Given the description of an element on the screen output the (x, y) to click on. 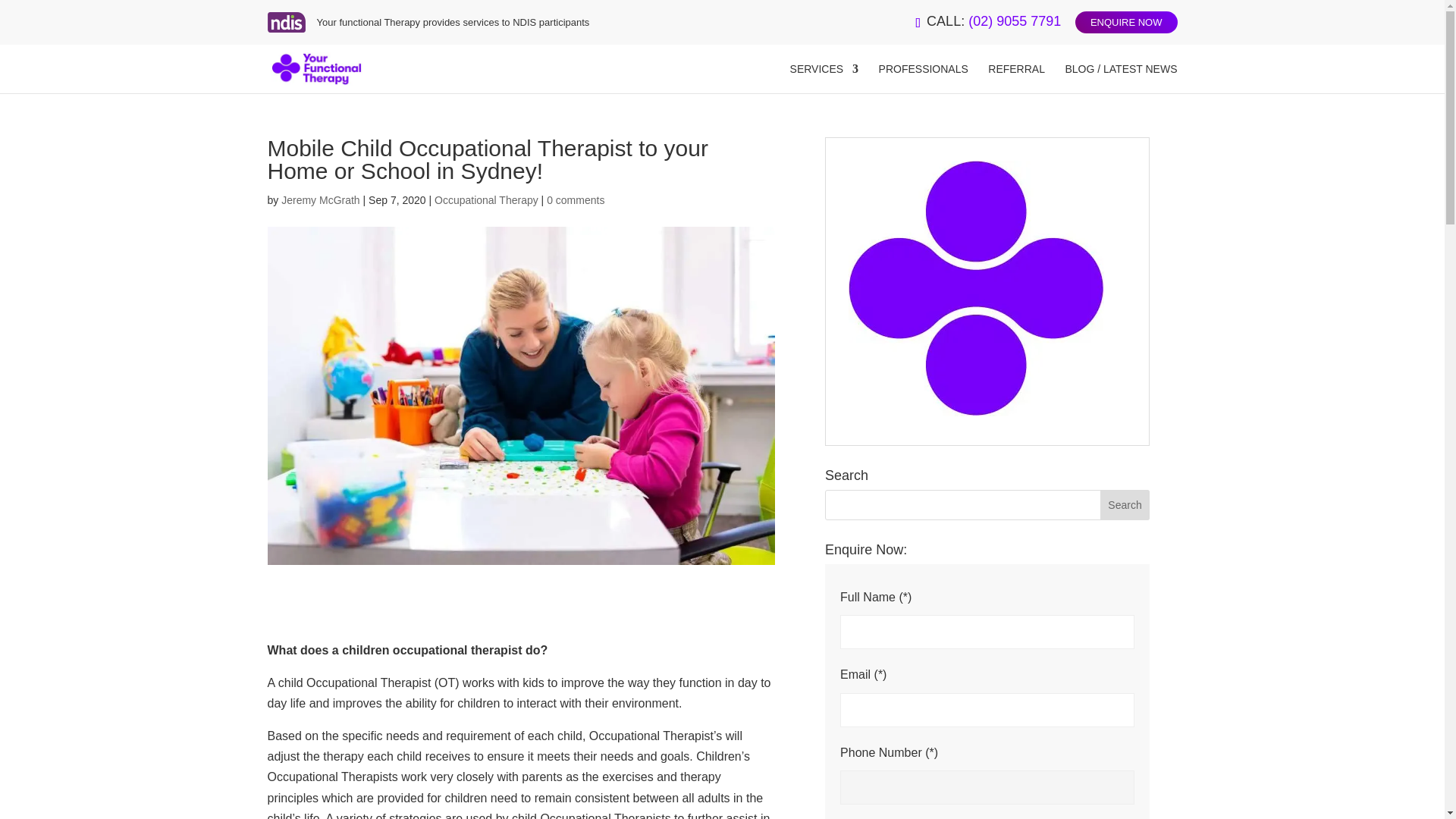
Occupational Therapy (485, 200)
REFERRAL (1016, 78)
0 comments (575, 200)
Search (1125, 504)
ENQUIRE NOW (1126, 22)
Jeremy McGrath (320, 200)
PROFESSIONALS (923, 78)
SERVICES (824, 78)
Posts by Jeremy McGrath (320, 200)
